Given the description of an element on the screen output the (x, y) to click on. 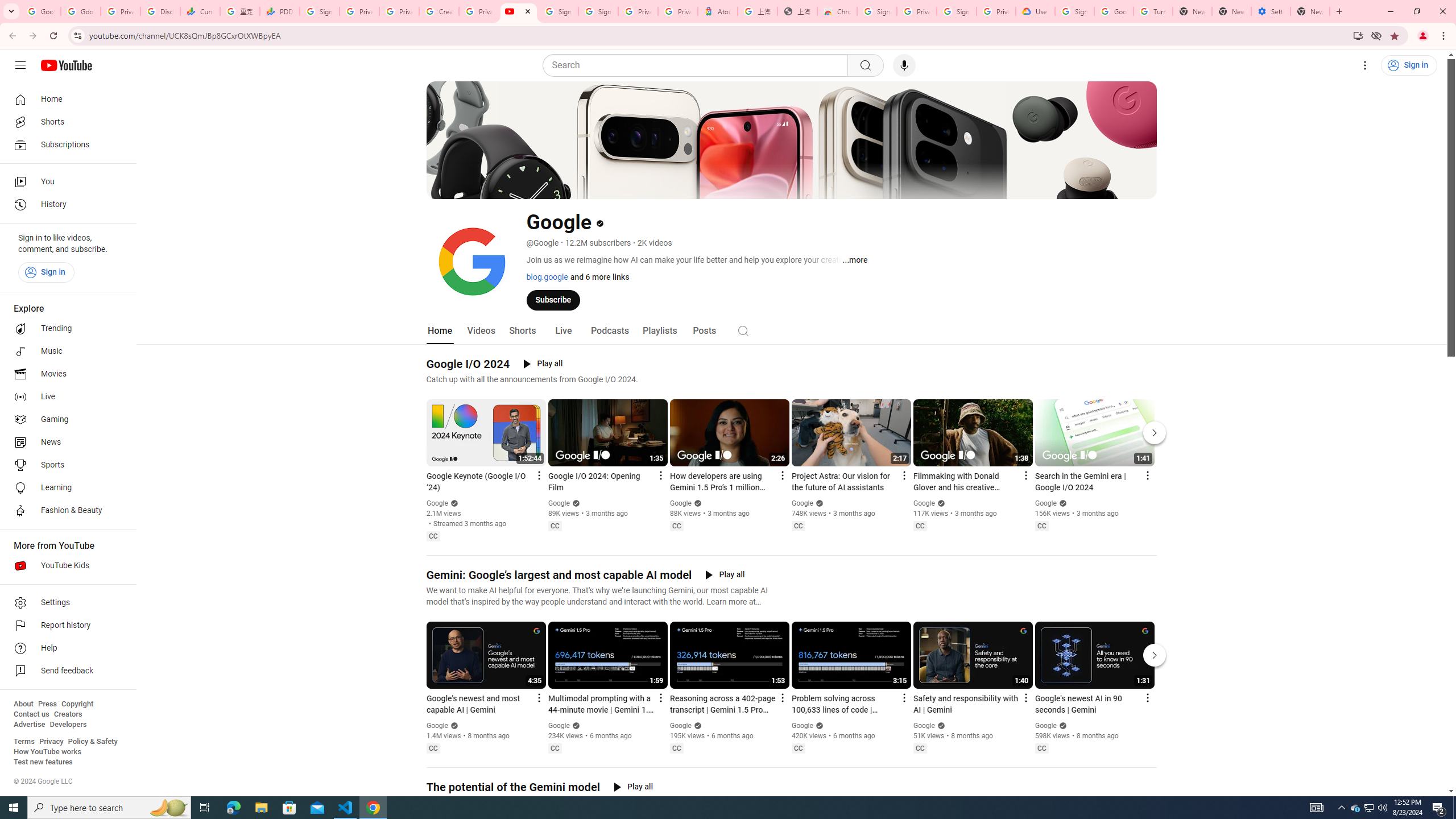
Sign in - Google Accounts (598, 11)
How YouTube works (47, 751)
Send feedback (64, 671)
Policy & Safety (91, 741)
Sports (64, 464)
Home (64, 99)
Atour Hotel - Google hotels (717, 11)
Action menu (1146, 697)
Create your Google Account (438, 11)
